Given the description of an element on the screen output the (x, y) to click on. 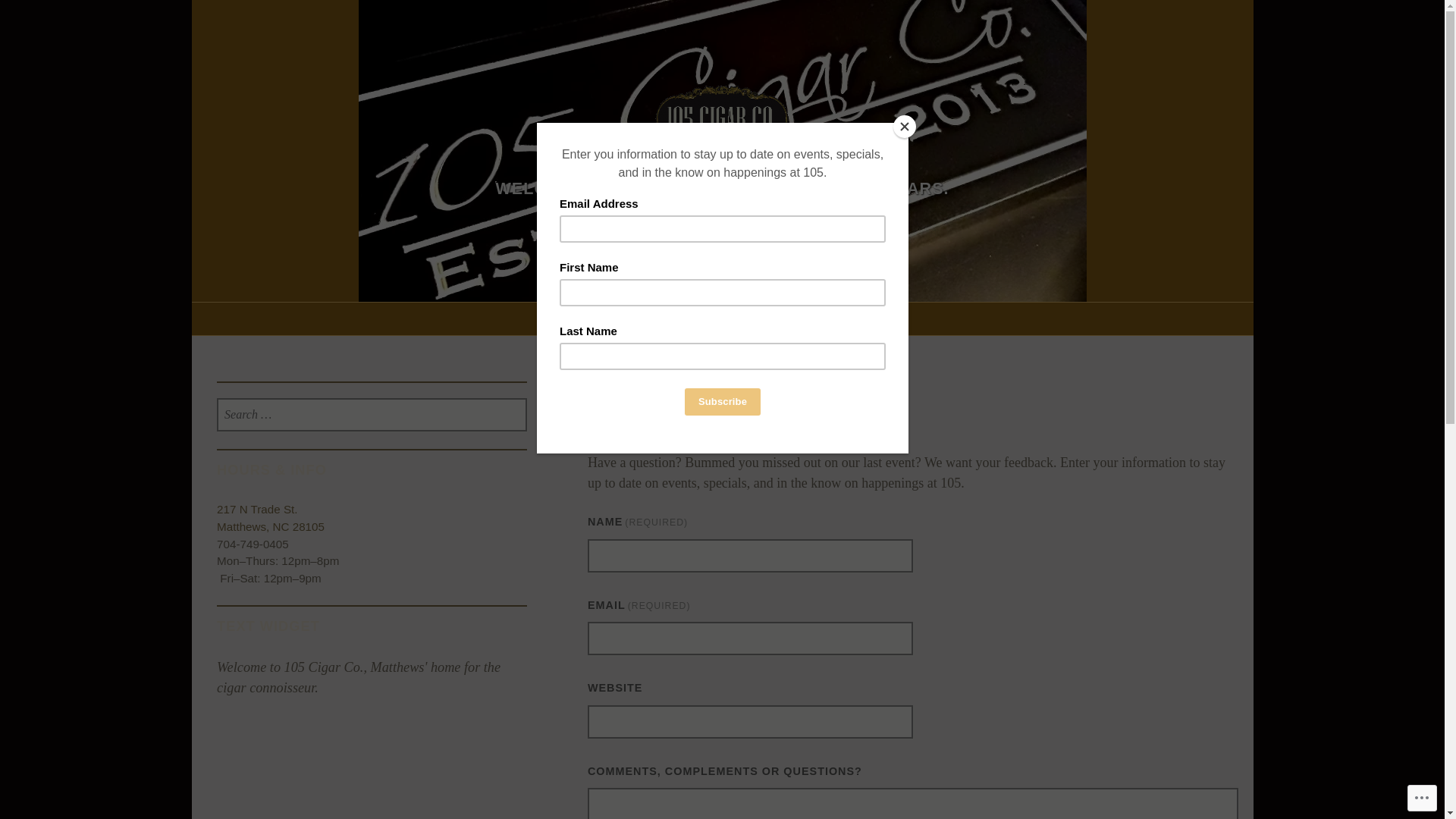
217 N Trade St.
Matthews, NC 28105 Element type: text (270, 517)
CONTACT Element type: text (755, 318)
HOME Element type: text (622, 318)
Please enter a valid URL - https://www.example.com Element type: hover (750, 721)
BLOG Element type: text (822, 318)
Search Element type: text (62, 18)
ABOUT Element type: text (684, 318)
WELCOME TO MATTHEWS' HOME FOR FINE CIGARS. Element type: text (721, 187)
